Given the description of an element on the screen output the (x, y) to click on. 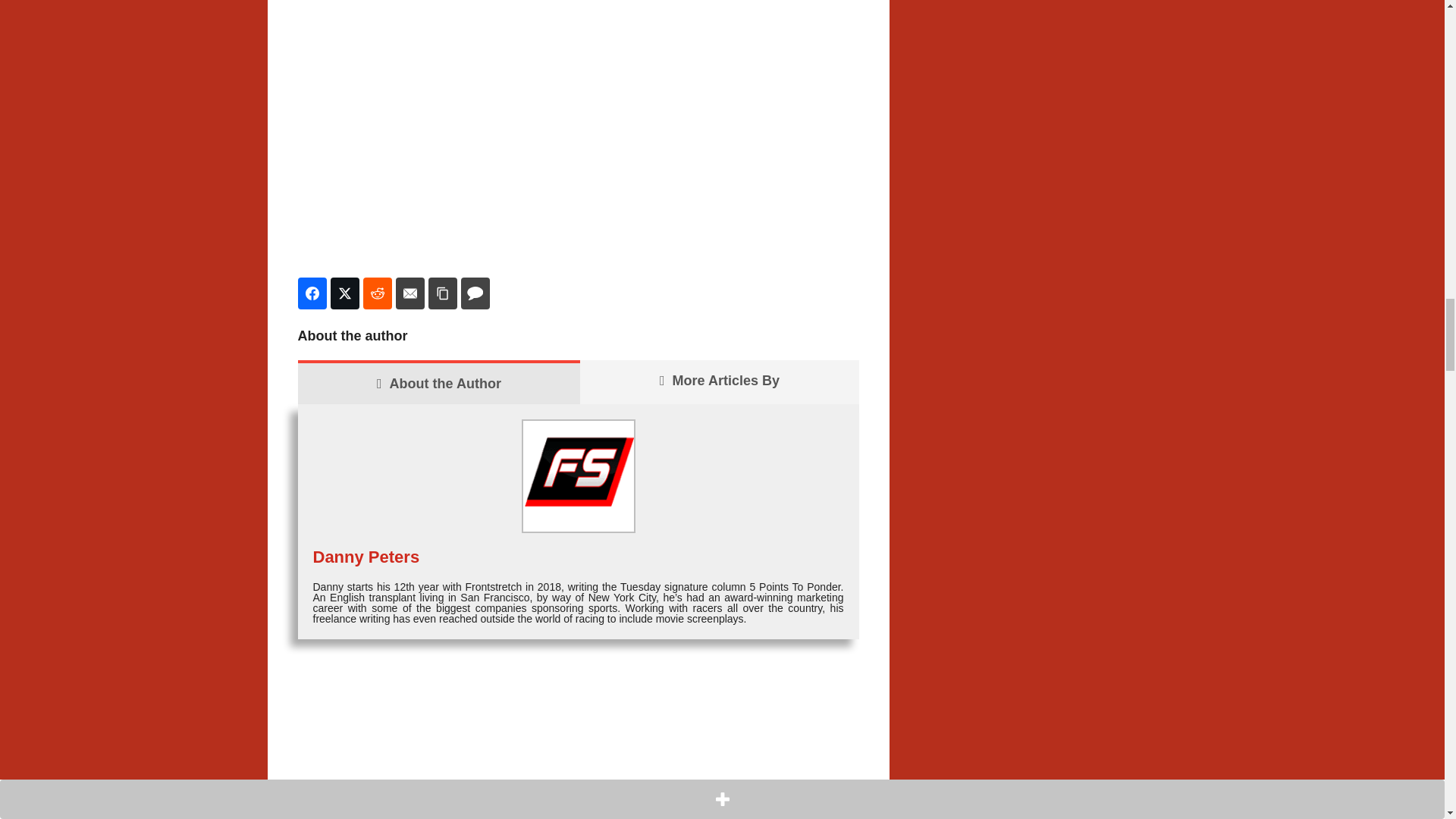
Share on Email (410, 293)
Share on Twitter (344, 293)
Share on Reddit (376, 293)
Share on Comments (475, 293)
Danny Peters (366, 556)
Share on Facebook (311, 293)
Share on Copy Link (442, 293)
